Given the description of an element on the screen output the (x, y) to click on. 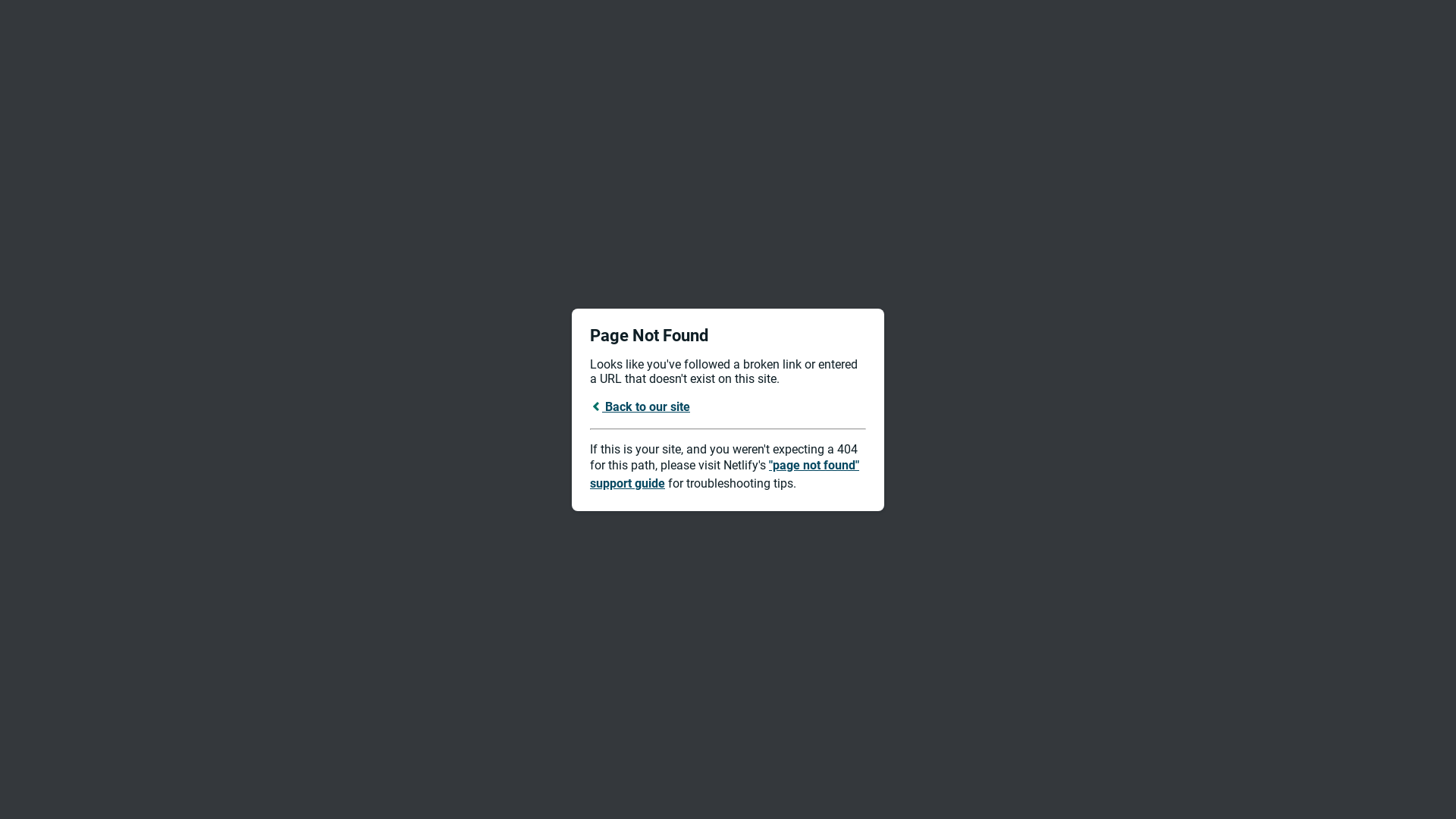
Back to our site Element type: text (639, 405)
"page not found" support guide Element type: text (724, 474)
